Given the description of an element on the screen output the (x, y) to click on. 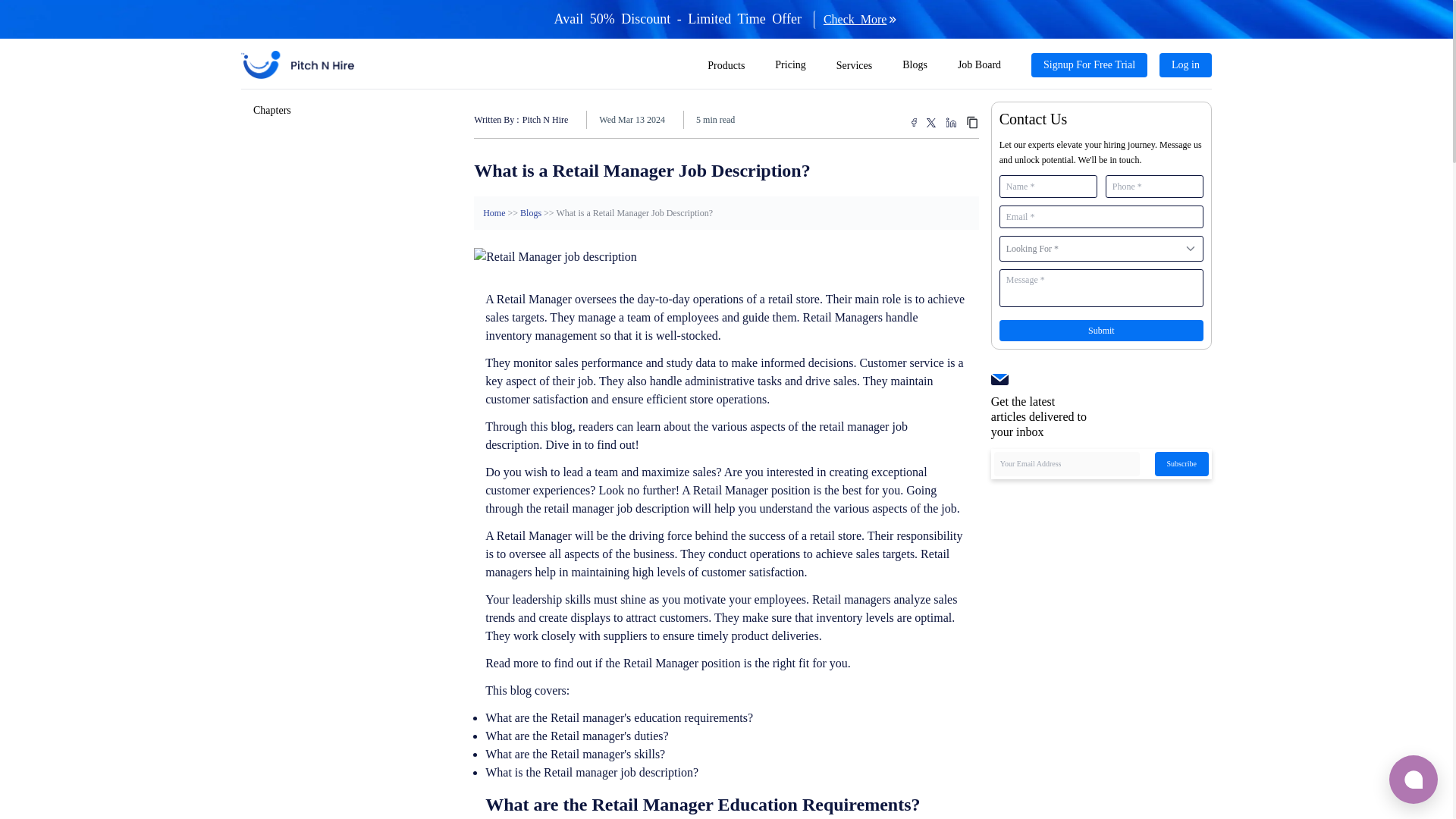
Blogs (914, 64)
Log in (1184, 64)
Log in (1185, 64)
Check More (850, 19)
Pricing (789, 64)
Blogs (530, 213)
Open chat window (1413, 779)
Home (494, 213)
Job Board (979, 64)
Signup For Free Trial (1089, 64)
Signup For Free Trial (1088, 64)
